Given the description of an element on the screen output the (x, y) to click on. 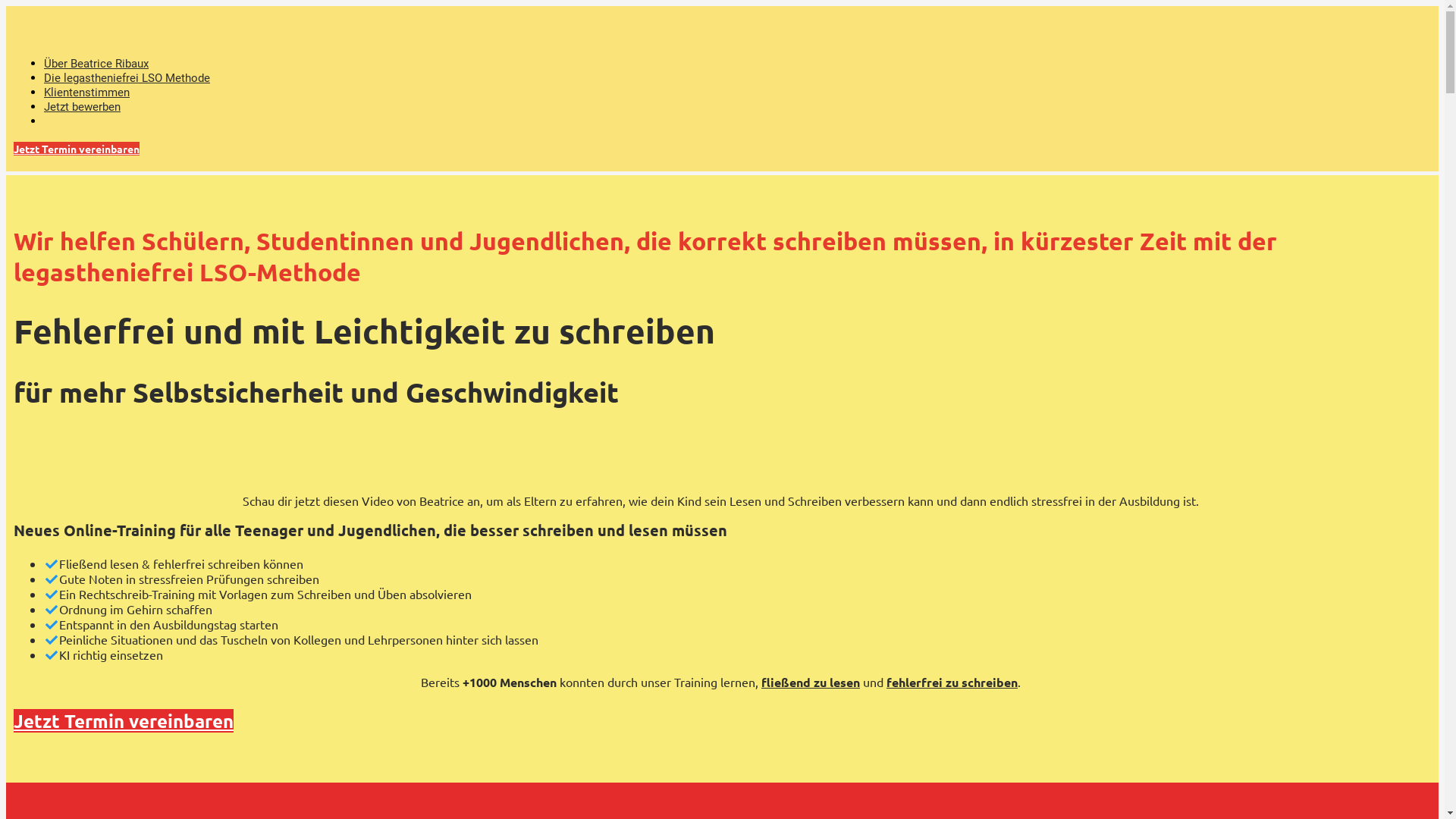
Klientenstimmen Element type: text (86, 92)
Jetzt Termin vereinbaren Element type: text (76, 148)
Jetzt Termin vereinbaren Element type: text (123, 720)
Die legastheniefrei LSO Methode Element type: text (126, 77)
Jetzt bewerben Element type: text (81, 106)
